Given the description of an element on the screen output the (x, y) to click on. 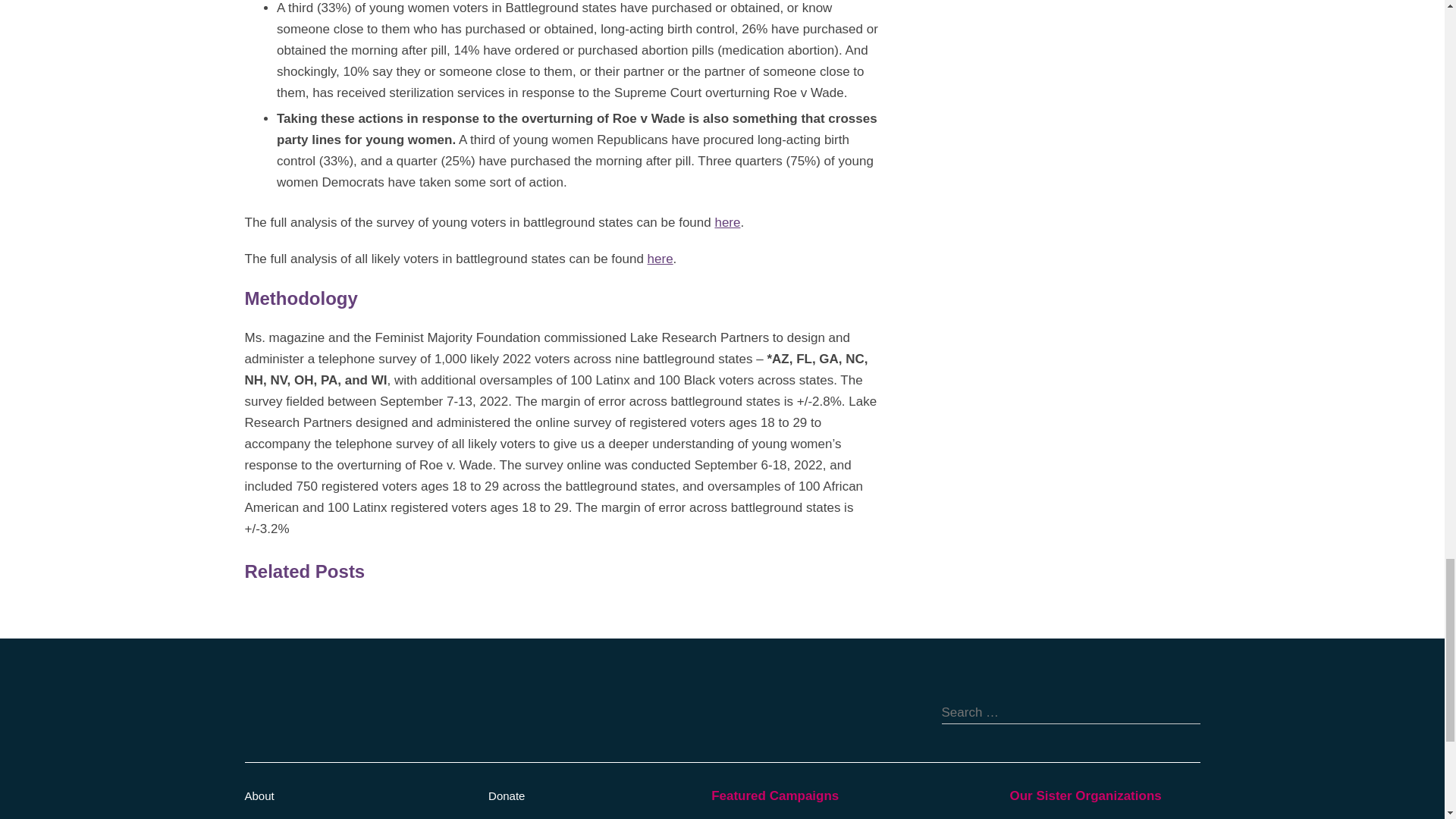
Search (1187, 712)
here (726, 222)
Search (1187, 712)
here (659, 258)
